Given the description of an element on the screen output the (x, y) to click on. 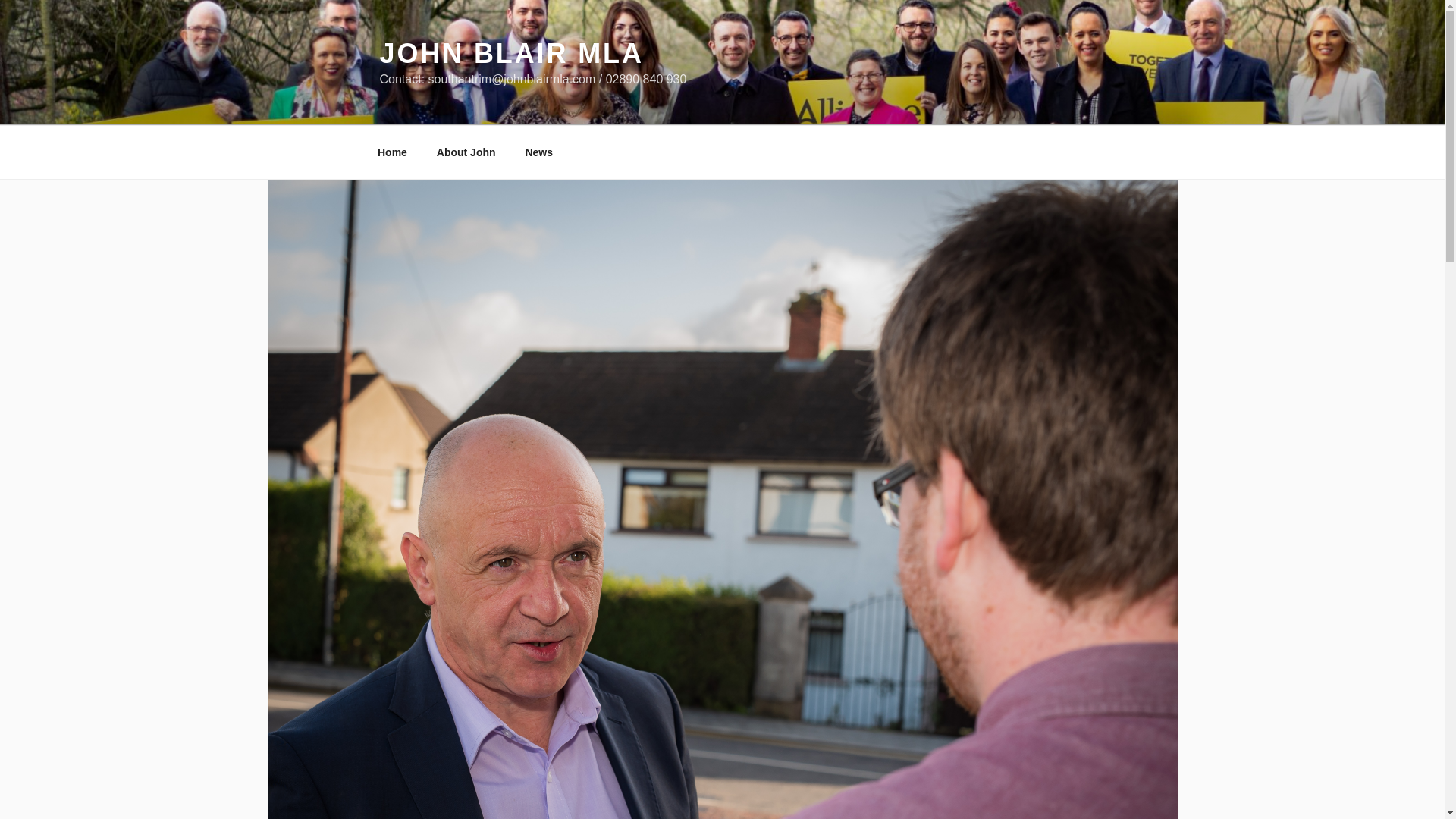
JOHN BLAIR MLA (510, 52)
About John (465, 151)
News (539, 151)
Home (392, 151)
